Given the description of an element on the screen output the (x, y) to click on. 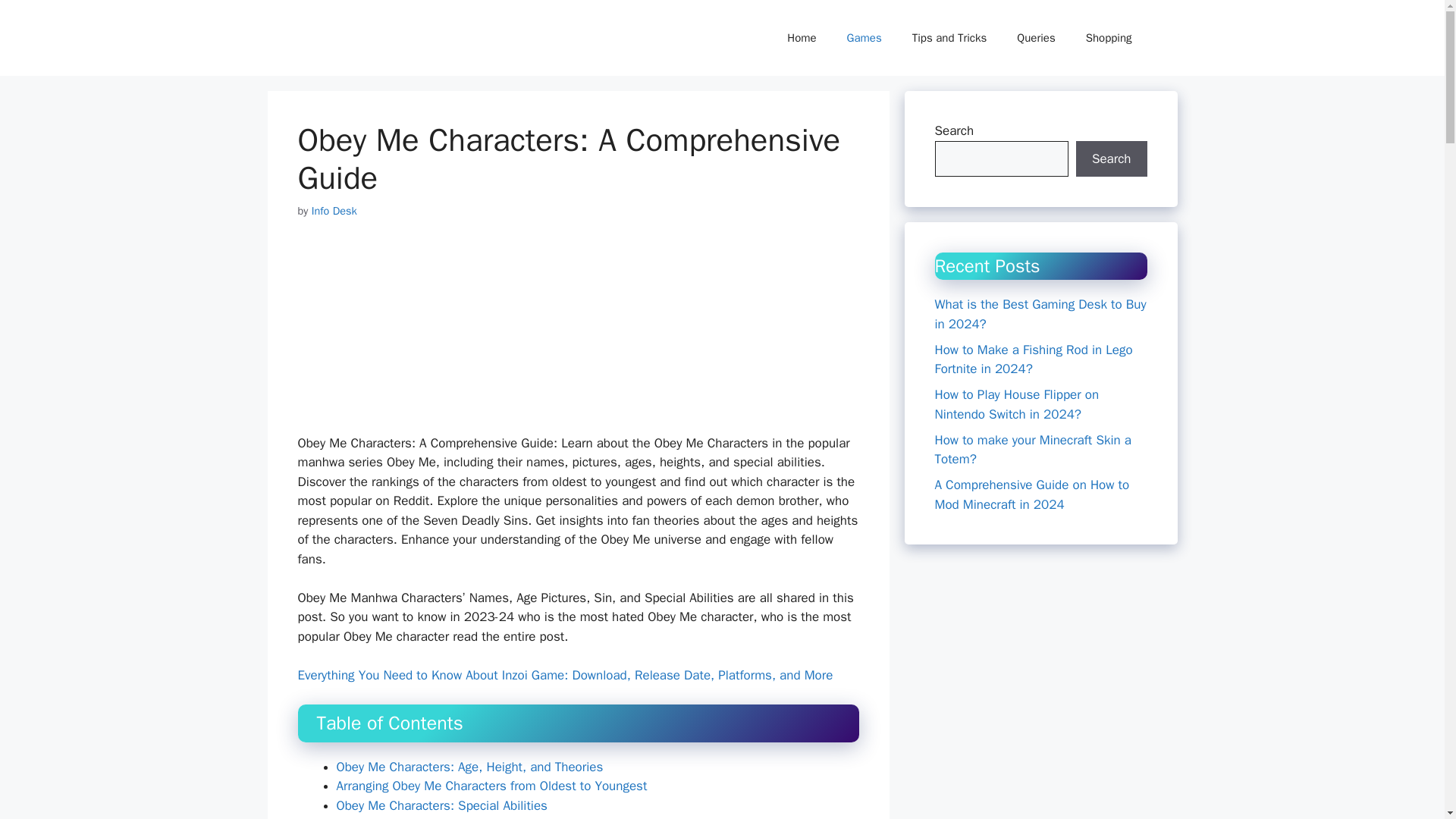
Obey Me Characters: Age, Height, and Theories (470, 766)
Games (863, 37)
Home (801, 37)
Info Desk (333, 210)
Search (1111, 158)
Obey Me Characters: Special Abilities (441, 805)
What is the Best Gaming Desk to Buy in 2024? (1039, 314)
Shopping (1108, 37)
View all posts by Info Desk (333, 210)
Arranging Obey Me Characters from Oldest to Youngest (491, 785)
Obey Me Characters and Their Sins (435, 817)
Queries (1035, 37)
Tips and Tricks (949, 37)
